Given the description of an element on the screen output the (x, y) to click on. 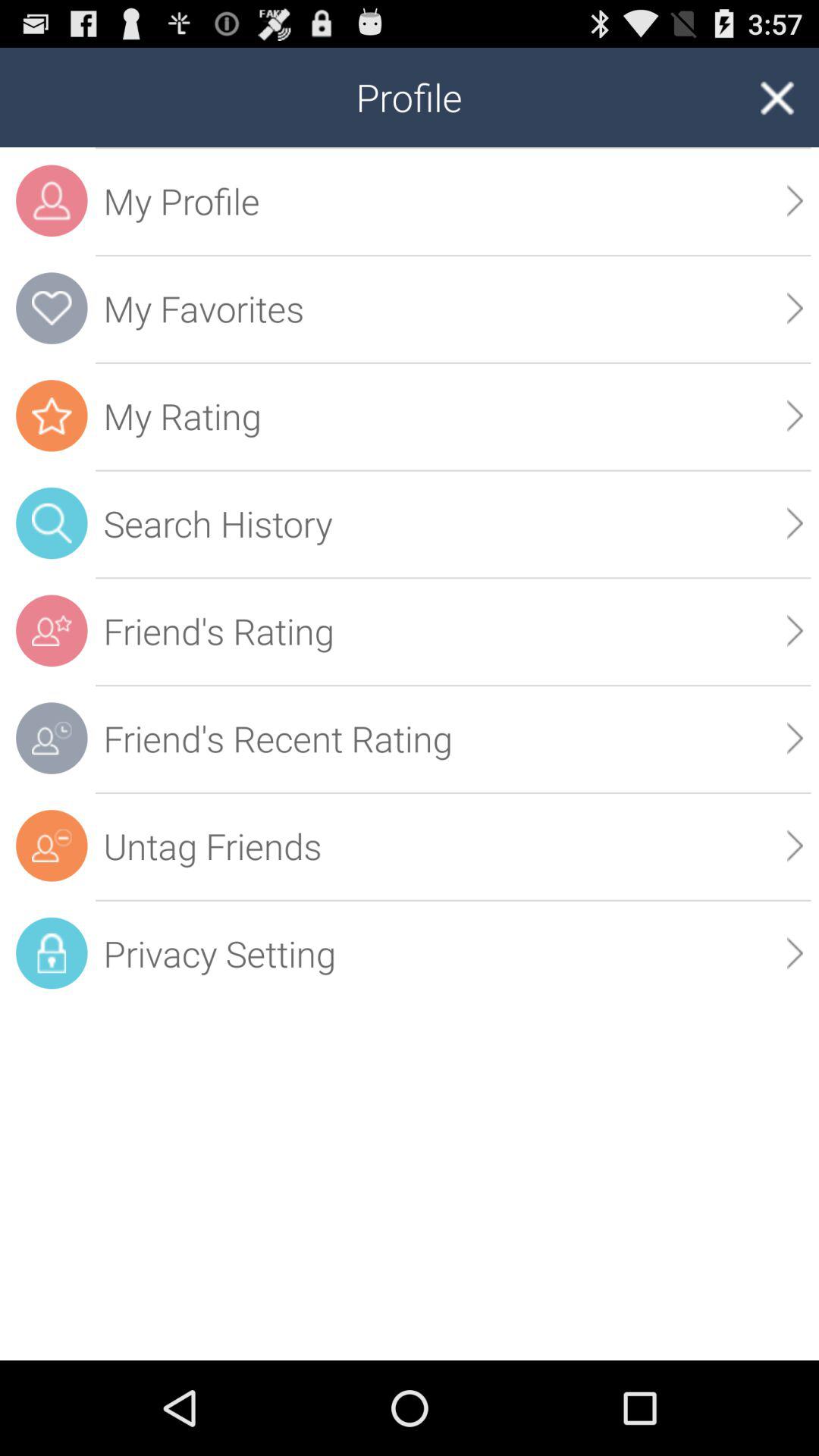
open the app below the my profile (795, 308)
